Given the description of an element on the screen output the (x, y) to click on. 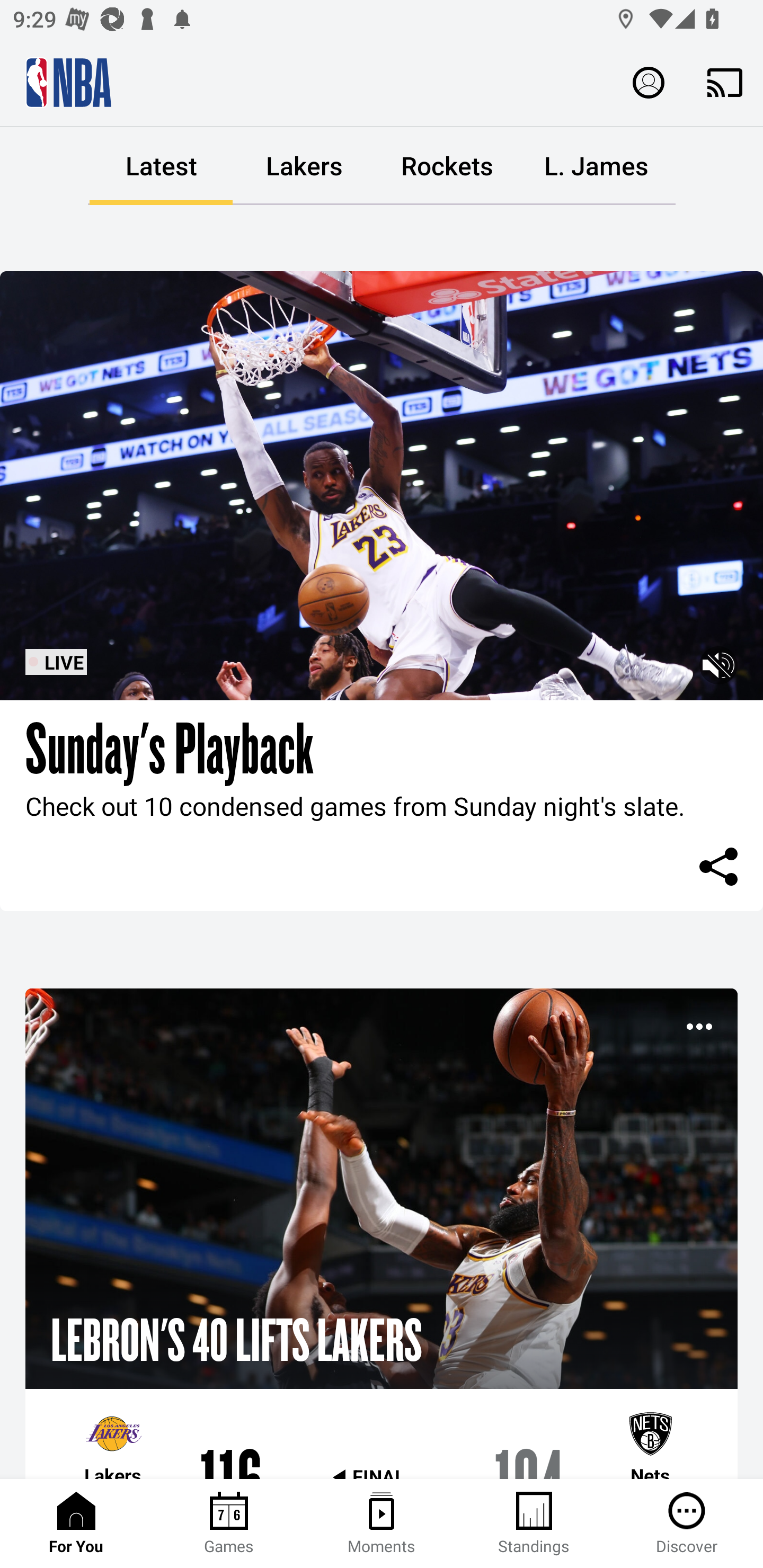
Cast. Disconnected (724, 82)
Profile (648, 81)
Lakers (303, 166)
Rockets (446, 166)
L. James (595, 166)
Games (228, 1523)
Moments (381, 1523)
Standings (533, 1523)
Discover (686, 1523)
